Given the description of an element on the screen output the (x, y) to click on. 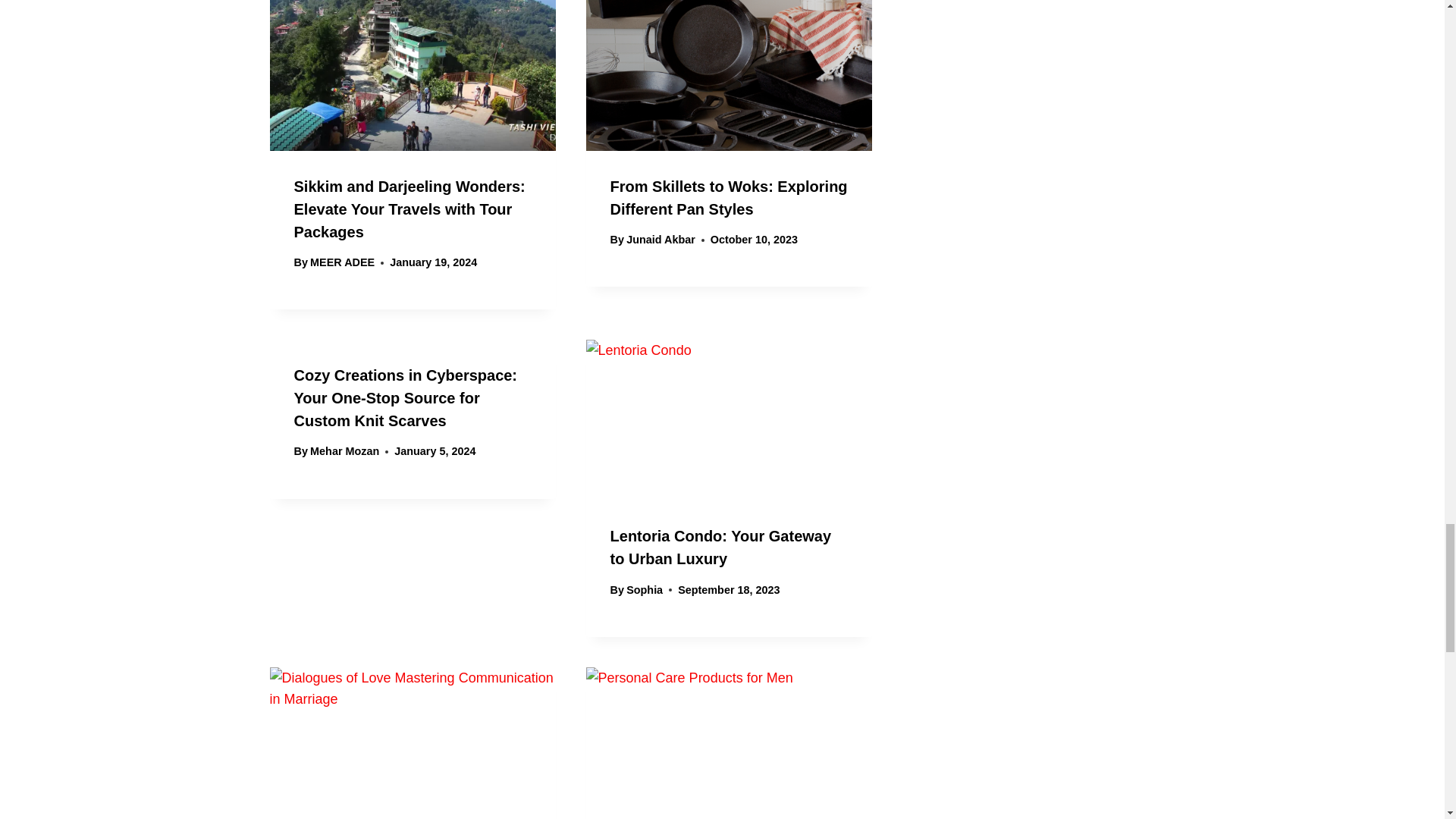
Mehar Mozan (344, 451)
MEER ADEE (342, 262)
Junaid Akbar (660, 239)
From Skillets to Woks: Exploring Different Pan Styles (728, 197)
